Given the description of an element on the screen output the (x, y) to click on. 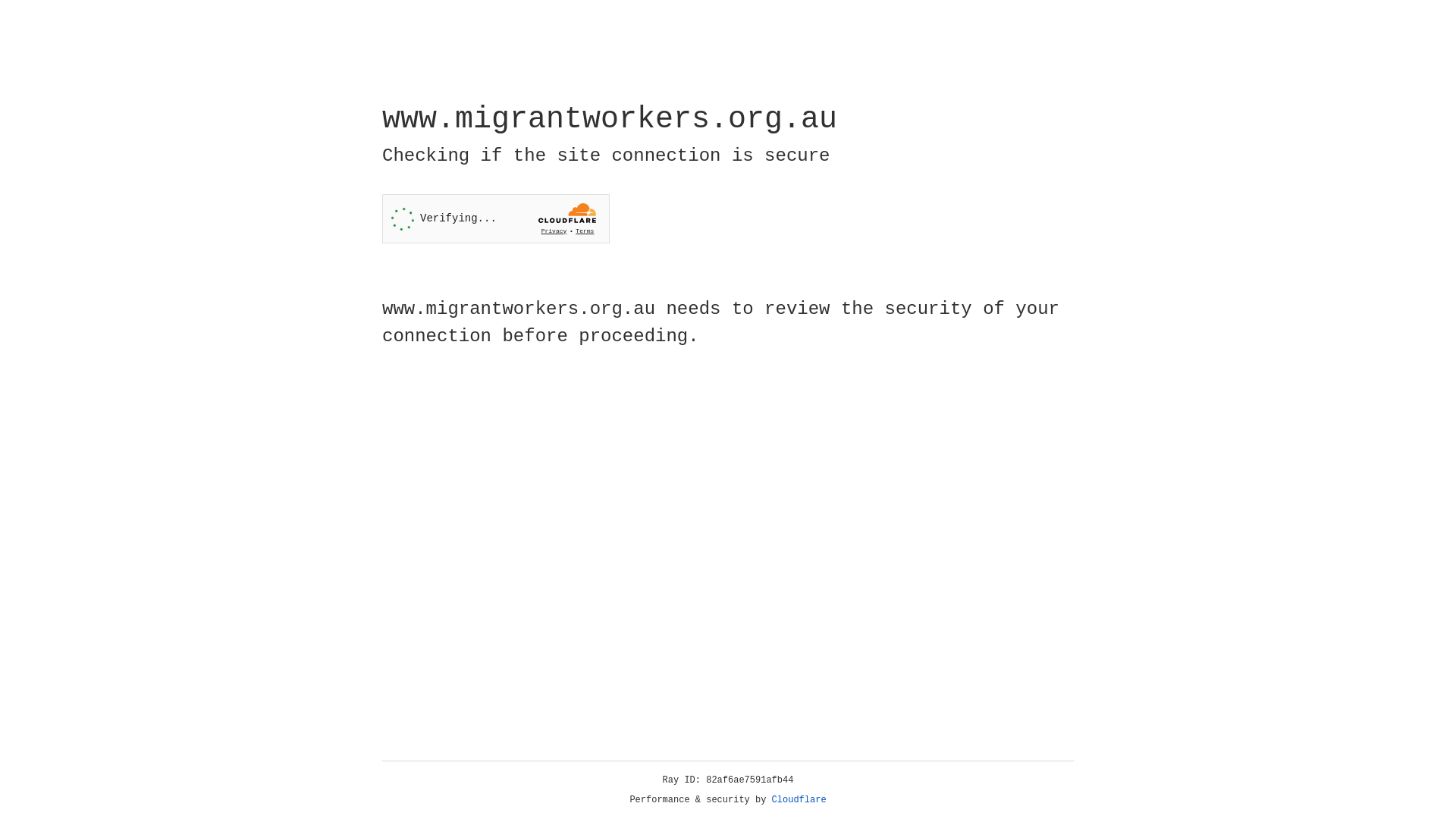
Widget containing a Cloudflare security challenge Element type: hover (495, 218)
Cloudflare Element type: text (798, 799)
